Given the description of an element on the screen output the (x, y) to click on. 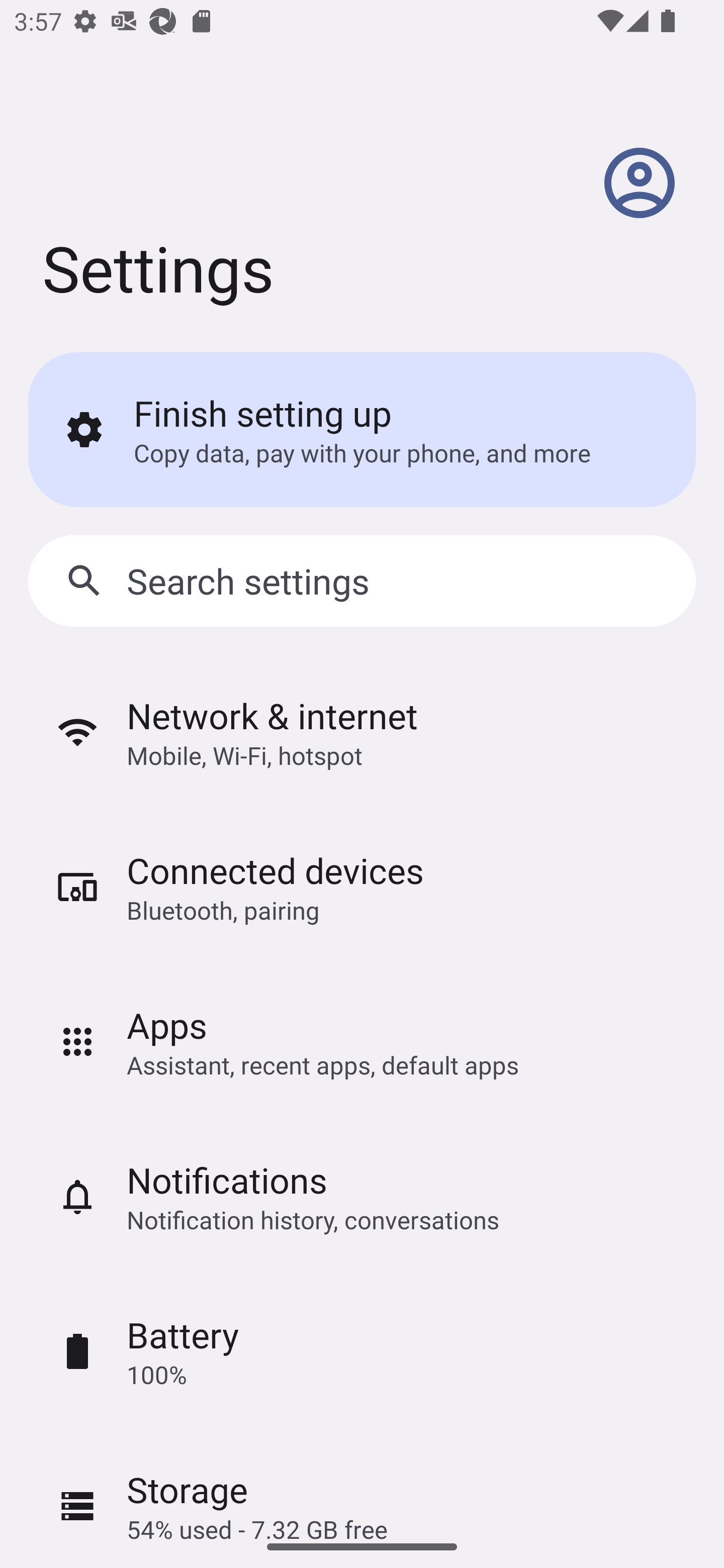
Profile picture, double tap to open Google Account (639, 183)
Search settings (361, 580)
Network & internet Mobile, Wi‑Fi, hotspot (362, 732)
Connected devices Bluetooth, pairing (362, 886)
Apps Assistant, recent apps, default apps (362, 1041)
Notifications Notification history, conversations (362, 1196)
Battery 100% (362, 1350)
Storage 54% used - 7.32 GB free (362, 1476)
